Given the description of an element on the screen output the (x, y) to click on. 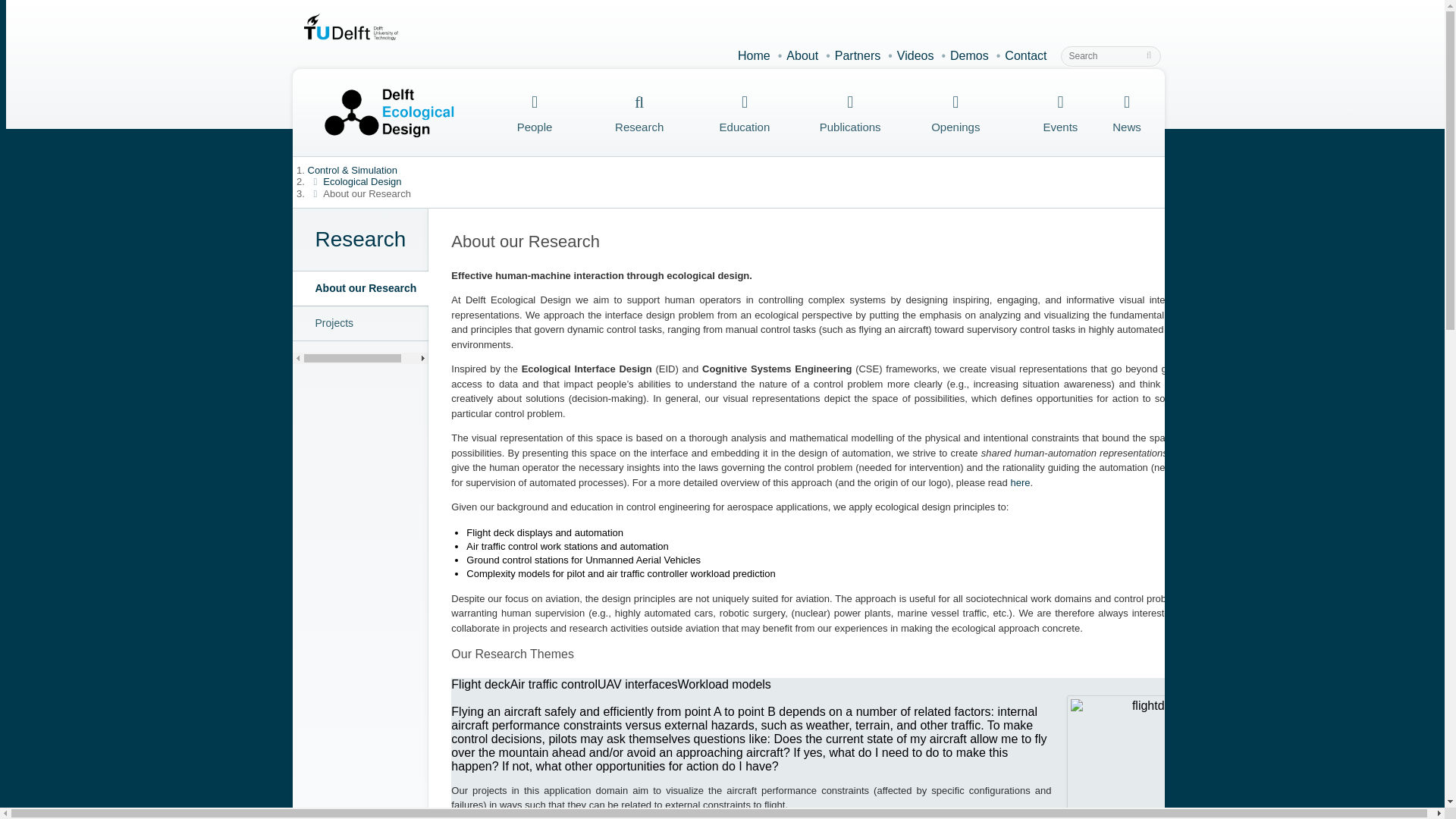
here (1019, 482)
Partners (857, 55)
Demos (969, 55)
Browse projects (498, 816)
Ecological Design (362, 181)
Research (360, 238)
Return to Homepage (381, 112)
Events (1061, 113)
Openings (955, 113)
About us (802, 55)
